Given the description of an element on the screen output the (x, y) to click on. 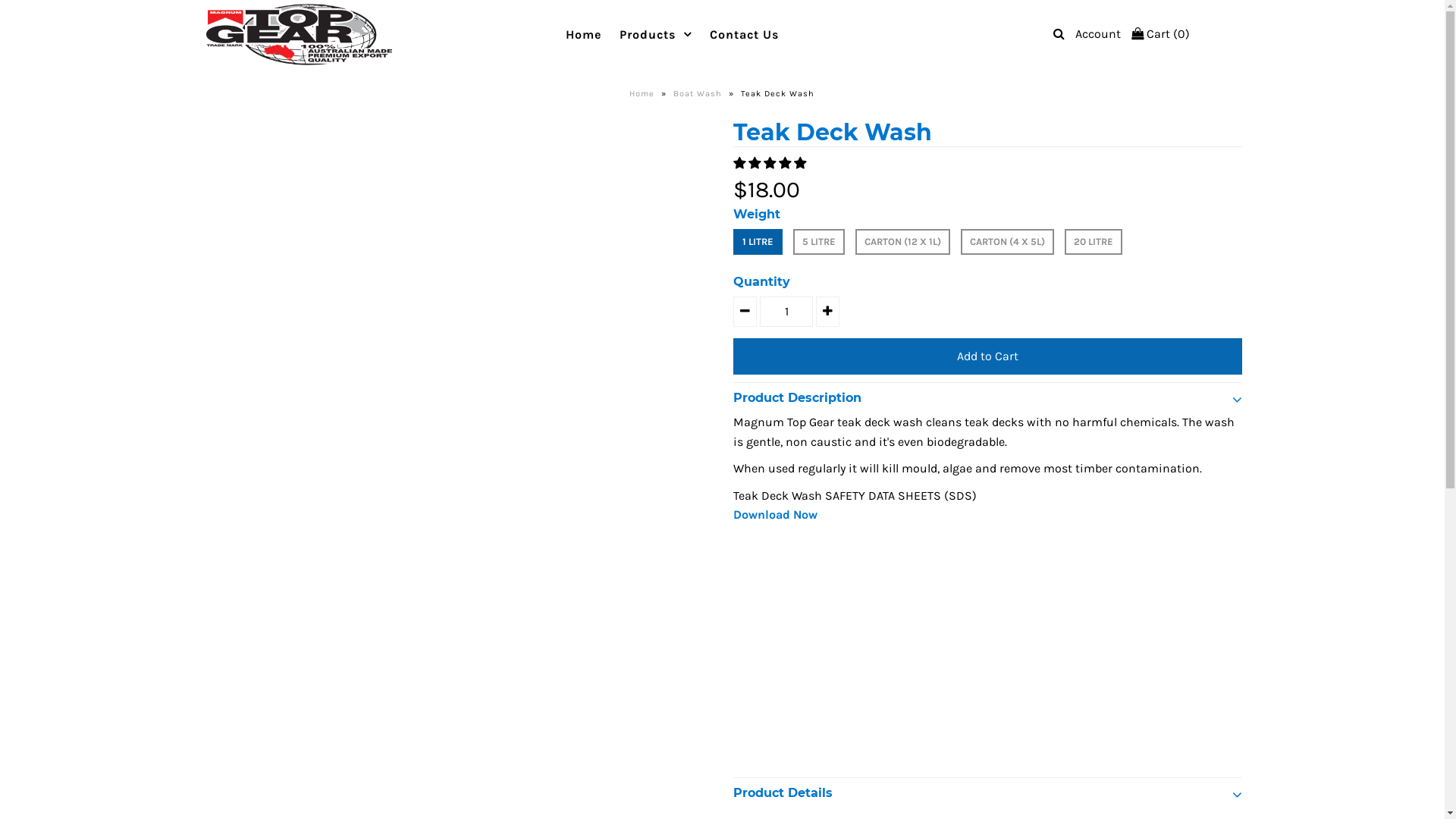
Contact Us Element type: text (744, 34)
Download Now Element type: text (775, 514)
Account Element type: text (1097, 33)
Boat Wash Element type: text (699, 93)
Product Description Element type: text (987, 393)
Home Element type: text (643, 93)
Product Details Element type: text (987, 789)
Cart (0) Element type: text (1160, 33)
Add to Cart Element type: text (987, 356)
Home Element type: text (583, 34)
Products Element type: text (655, 34)
